Given the description of an element on the screen output the (x, y) to click on. 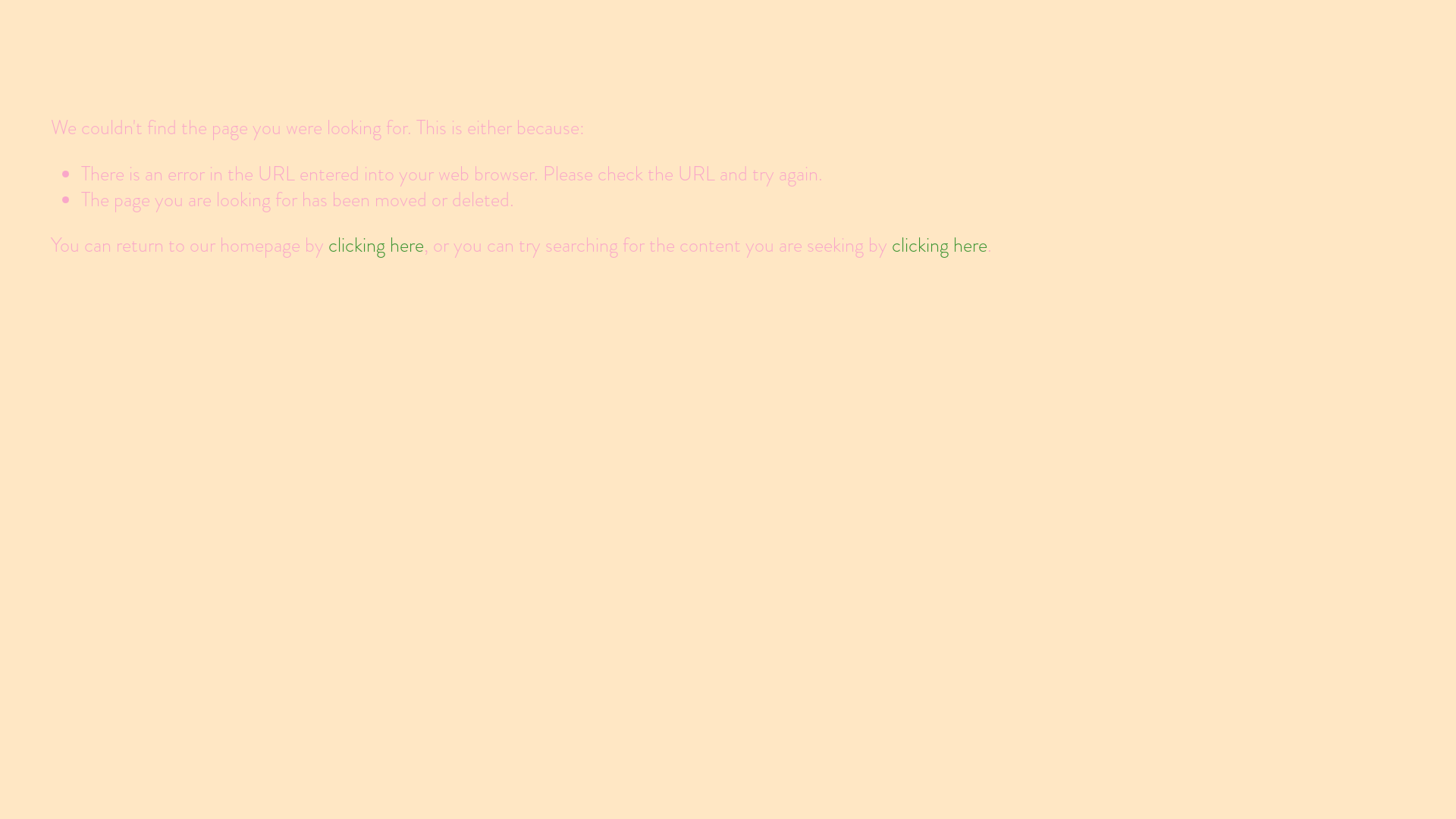
clicking here Element type: text (939, 244)
clicking here Element type: text (375, 244)
